Given the description of an element on the screen output the (x, y) to click on. 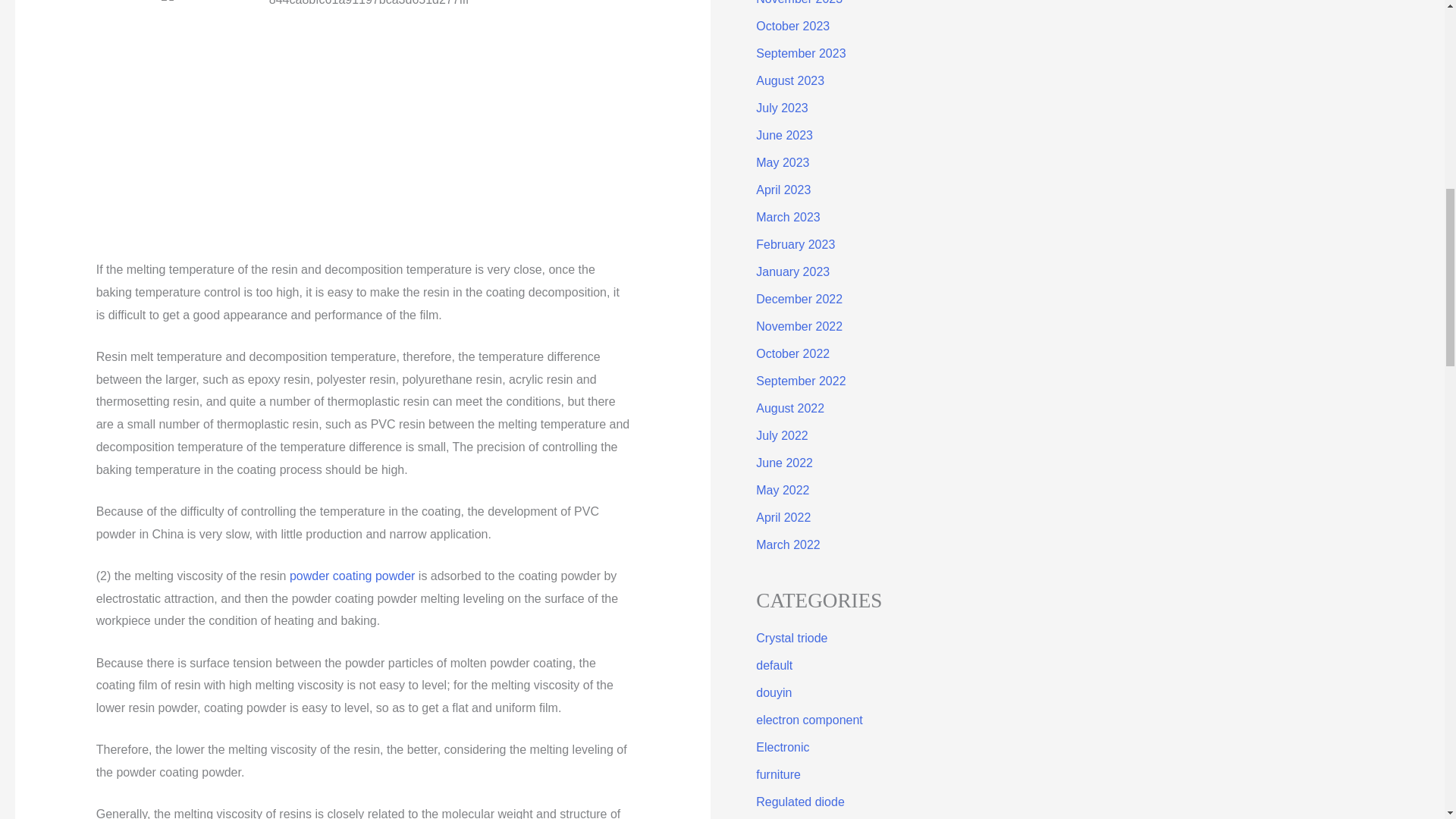
August 2023 (789, 80)
844ca8bfc61a91197bca3d651d277fff (362, 119)
September 2023 (800, 52)
October 2023 (792, 25)
powder coating powder (351, 575)
November 2023 (799, 2)
June 2023 (783, 134)
July 2023 (781, 107)
